Given the description of an element on the screen output the (x, y) to click on. 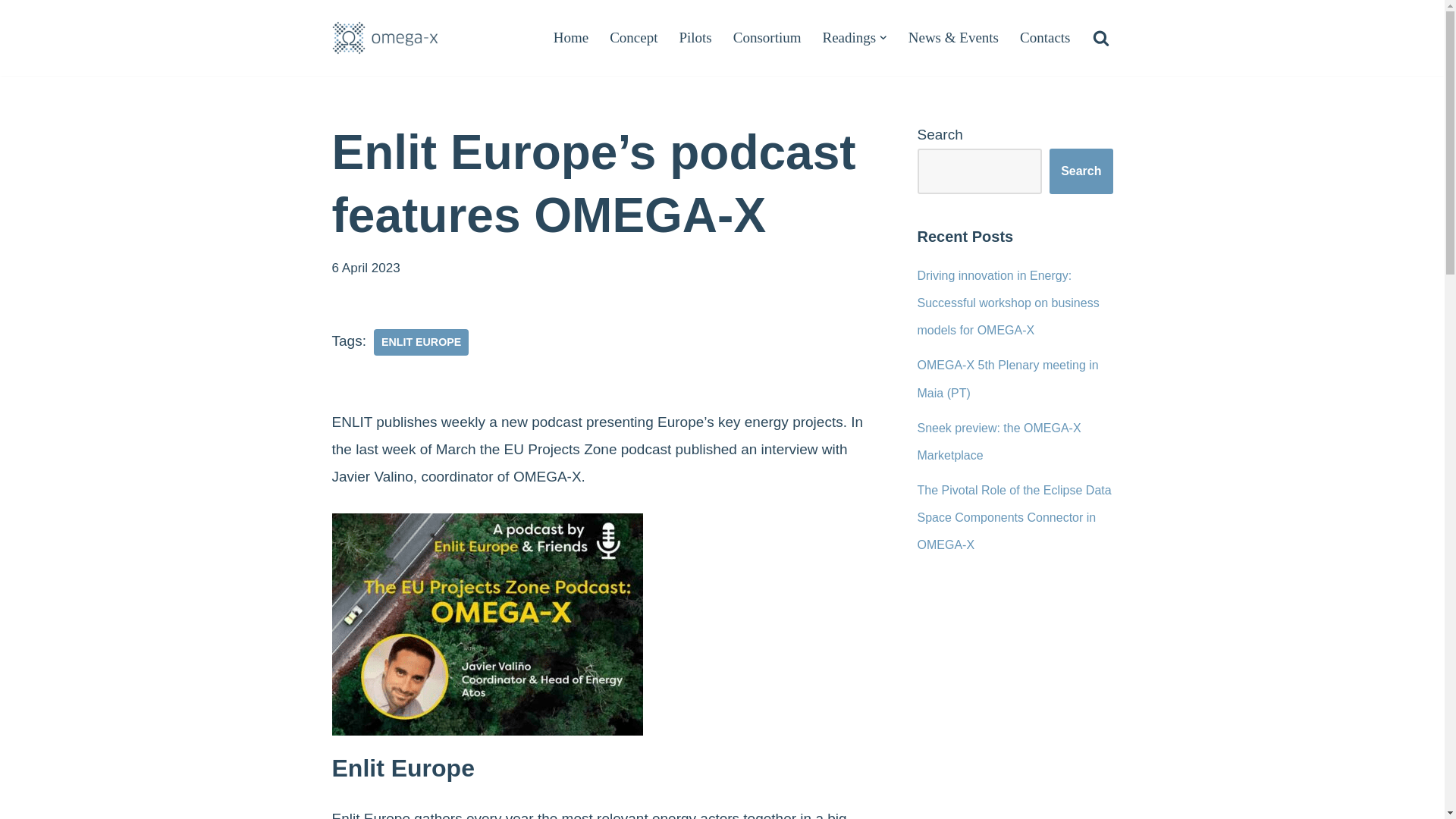
Search (1080, 171)
Sneek preview: the OMEGA-X Marketplace (999, 441)
Home (570, 37)
Pilots (694, 37)
Readings (849, 37)
Enlit Europe (421, 341)
Contacts (1045, 37)
Skip to content (11, 31)
Consortium (767, 37)
ENLIT EUROPE (421, 341)
Concept (634, 37)
